Given the description of an element on the screen output the (x, y) to click on. 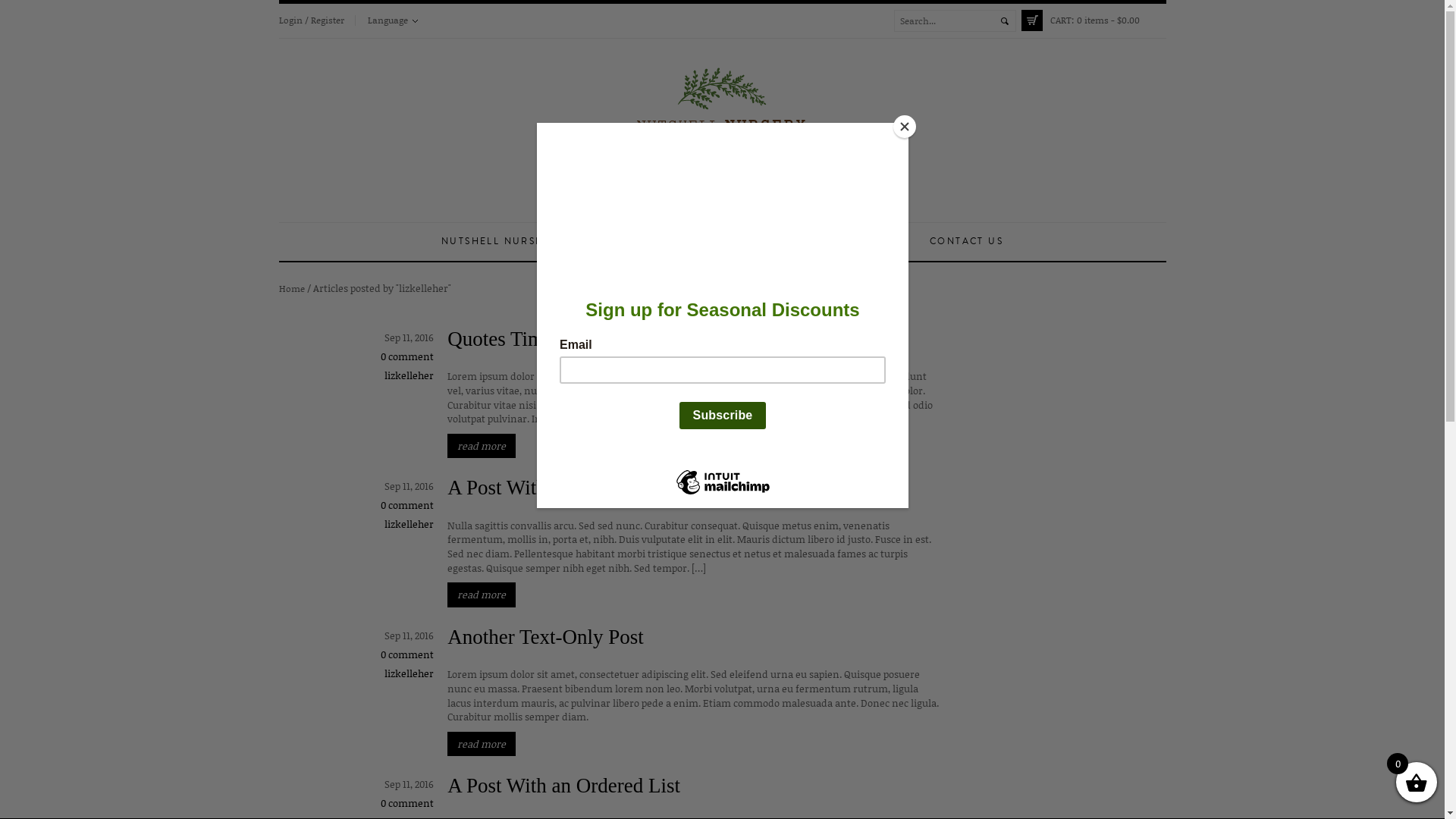
CATALOGUE Element type: text (806, 241)
Another Text-Only Post Element type: text (545, 636)
lizkelleher Element type: text (408, 523)
0 comment Element type: text (406, 802)
read more Element type: text (481, 743)
0 comment Element type: text (406, 654)
0 comment Element type: text (406, 356)
read more Element type: text (481, 594)
Login / Register Element type: text (311, 20)
Home Element type: text (291, 288)
read more Element type: text (481, 445)
A Post With a Left-Aligned Image Element type: text (587, 487)
lizkelleher Element type: text (408, 673)
ABOUT US Element type: text (615, 241)
NUTSHELL NURSERY Element type: text (499, 241)
lizkelleher Element type: text (408, 375)
0 comment Element type: text (406, 504)
Quotes Time! Element type: text (503, 338)
Language Element type: text (391, 20)
A Post With an Ordered List Element type: text (563, 785)
CONTACT US Element type: text (966, 241)
ALL PLANTS Element type: text (708, 241)
FAQS Element type: text (885, 241)
CART: 0 items - $0.00 Element type: text (1092, 20)
